Given the description of an element on the screen output the (x, y) to click on. 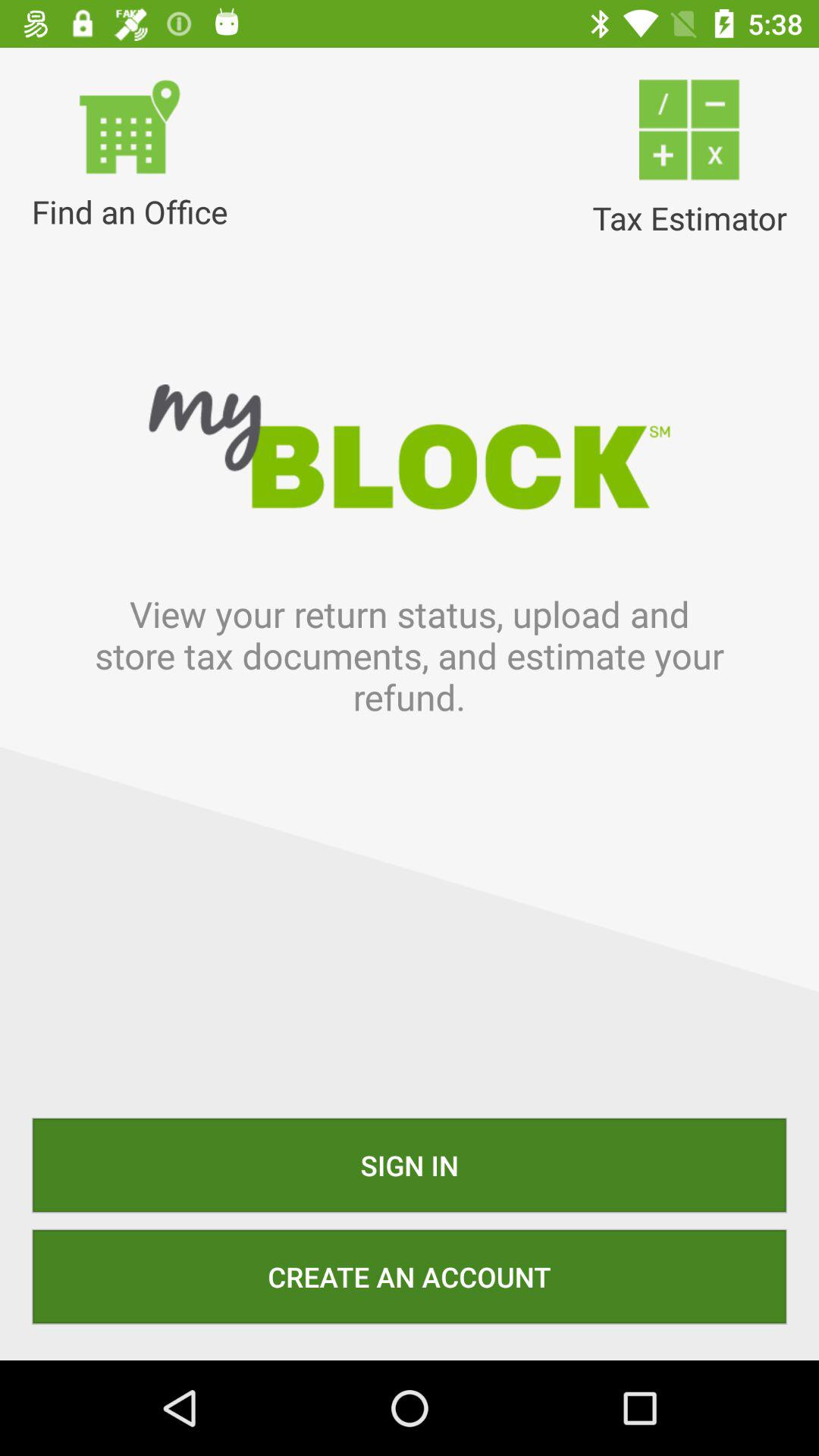
jump until sign in (409, 1165)
